Given the description of an element on the screen output the (x, y) to click on. 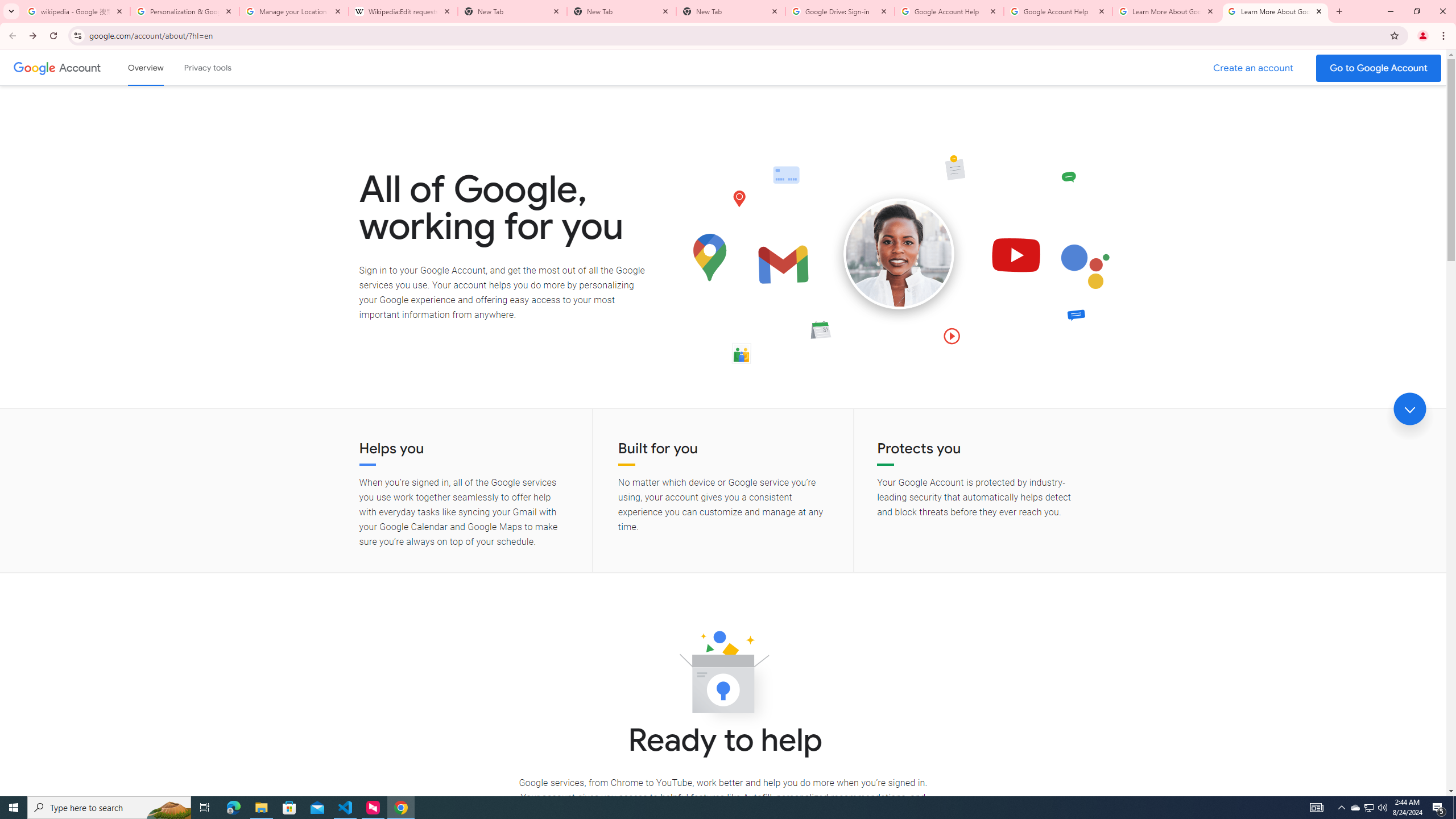
Google Account Help (1058, 11)
Create a Google Account (1253, 67)
Ready to help (722, 675)
